Given the description of an element on the screen output the (x, y) to click on. 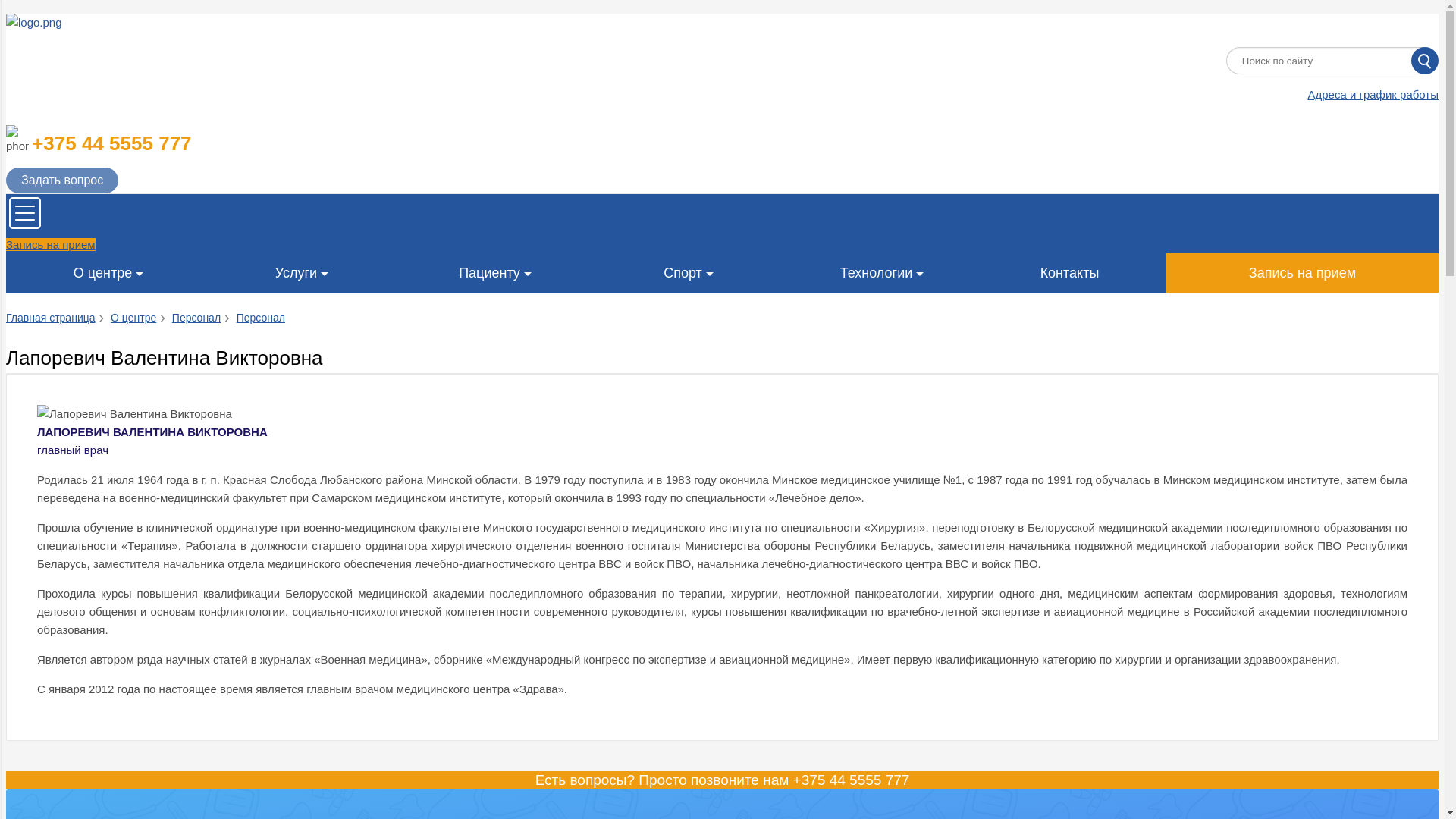
phone.png Element type: hover (17, 140)
logo.png Element type: hover (119, 22)
